Given the description of an element on the screen output the (x, y) to click on. 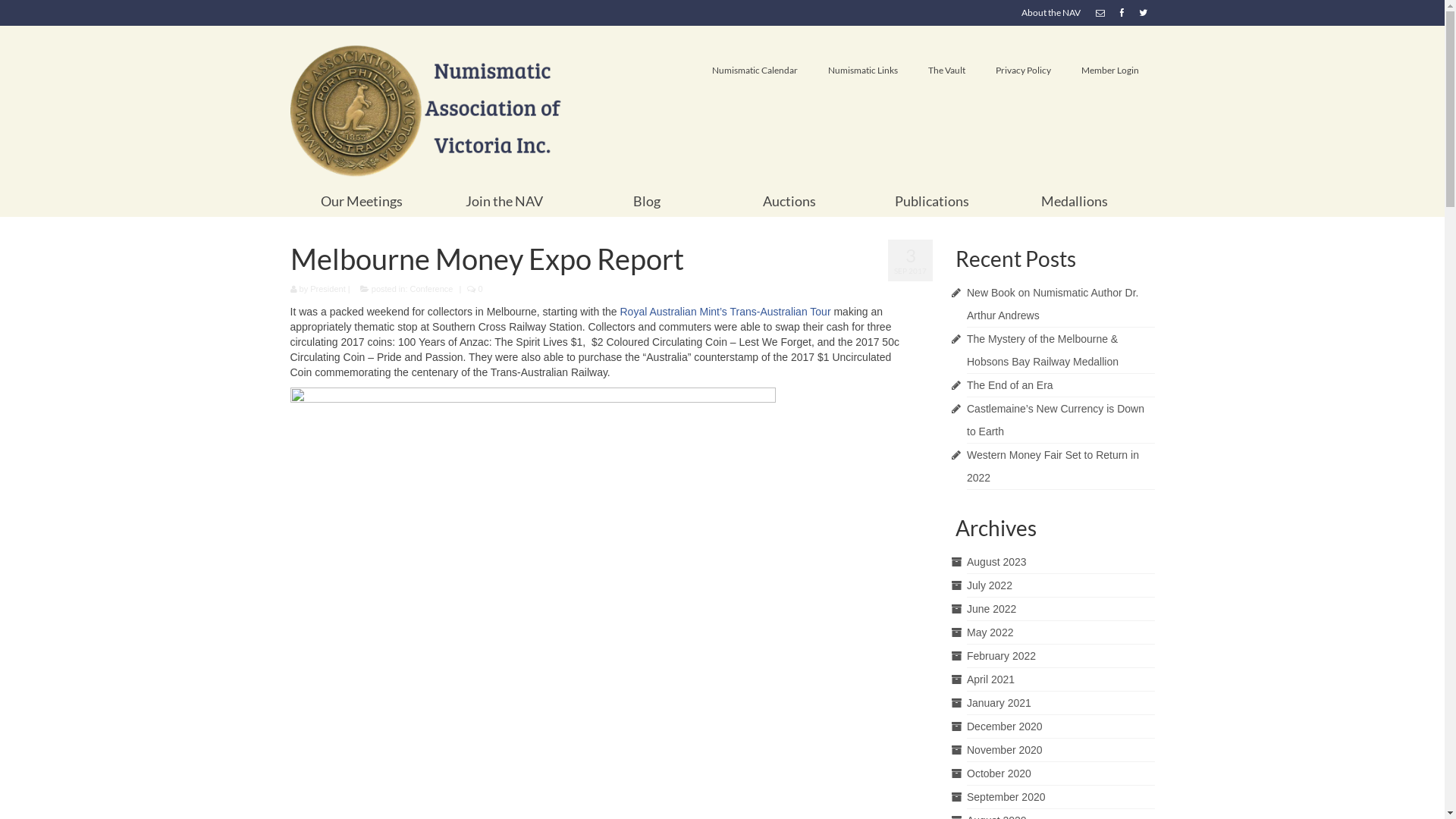
Western Money Fair Set to Return in 2022 Element type: text (1052, 465)
Our Meetings Element type: text (360, 200)
Blog Element type: text (646, 200)
Conference Element type: text (431, 288)
Member Login Element type: text (1110, 70)
September 2020 Element type: text (1005, 796)
Privacy Policy Element type: text (1023, 70)
About the NAV Element type: text (1050, 12)
The End of an Era Element type: text (1009, 385)
The Mystery of the Melbourne & Hobsons Bay Railway Medallion Element type: text (1042, 349)
November 2020 Element type: text (1004, 749)
October 2020 Element type: text (998, 773)
Auctions Element type: text (789, 200)
The Vault Element type: text (946, 70)
Medallions Element type: text (1074, 200)
July 2022 Element type: text (989, 585)
December 2020 Element type: text (1004, 726)
January 2021 Element type: text (998, 702)
New Book on Numismatic Author Dr. Arthur Andrews Element type: text (1052, 303)
Numismatic Calendar Element type: text (754, 70)
President Element type: text (327, 288)
May 2022 Element type: text (989, 632)
April 2021 Element type: text (990, 679)
Numismatic Links Element type: text (862, 70)
June 2022 Element type: text (991, 608)
February 2022 Element type: text (1000, 655)
August 2023 Element type: text (996, 561)
Join the NAV Element type: text (504, 200)
Publications Element type: text (931, 200)
